Given the description of an element on the screen output the (x, y) to click on. 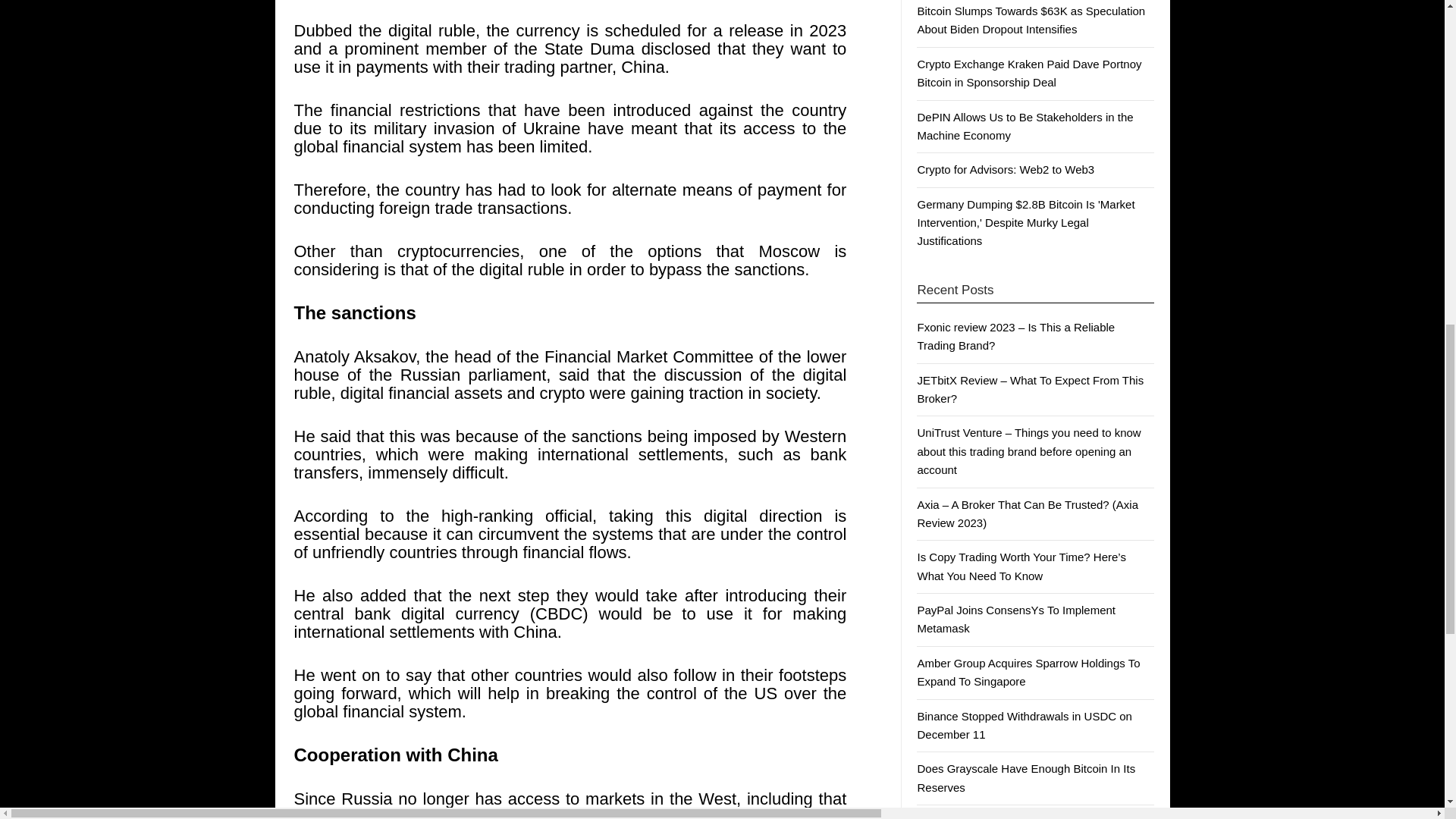
DePIN Allows Us to Be Stakeholders in the Machine Economy (1024, 125)
Crypto for Advisors: Web2 to Web3 (1005, 169)
